Given the description of an element on the screen output the (x, y) to click on. 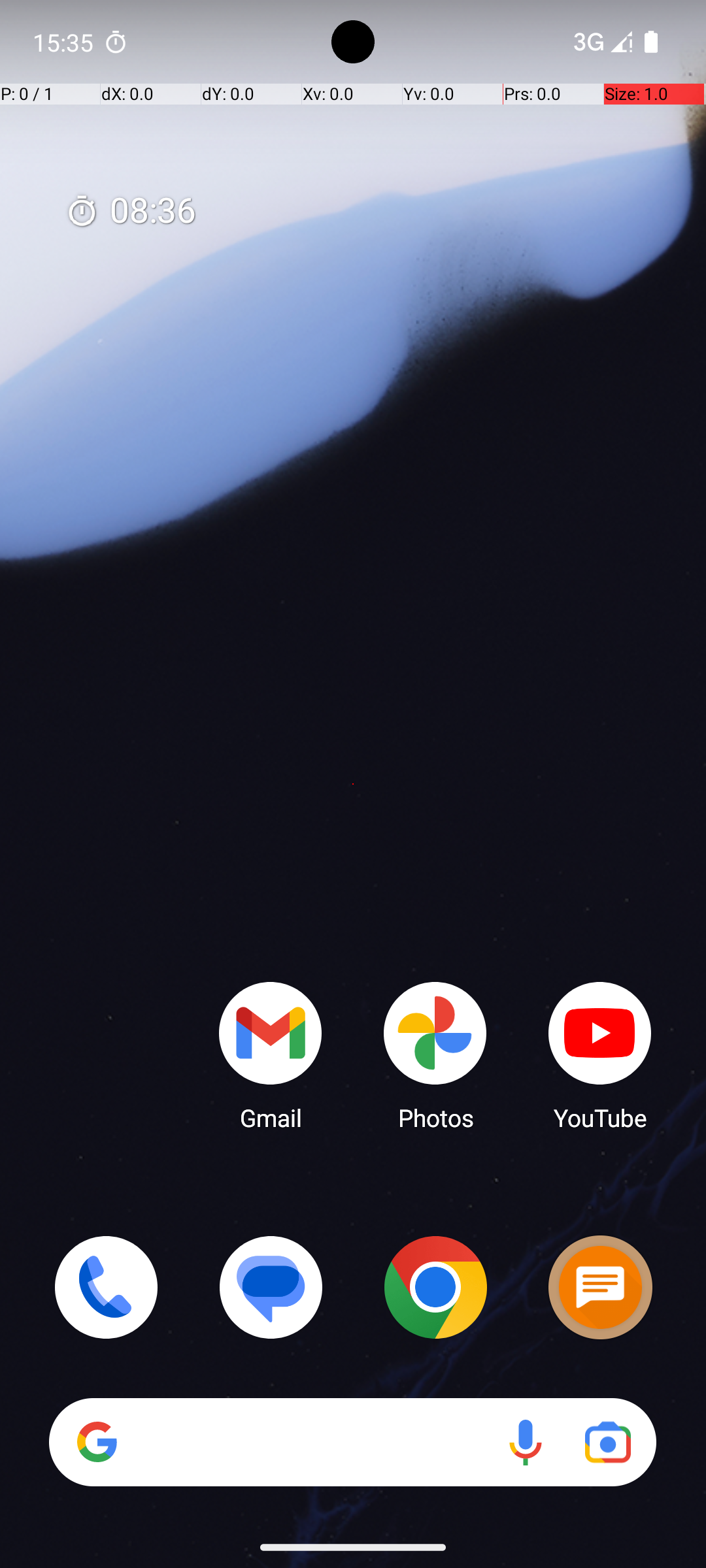
08:38 Element type: android.widget.TextView (130, 210)
